Given the description of an element on the screen output the (x, y) to click on. 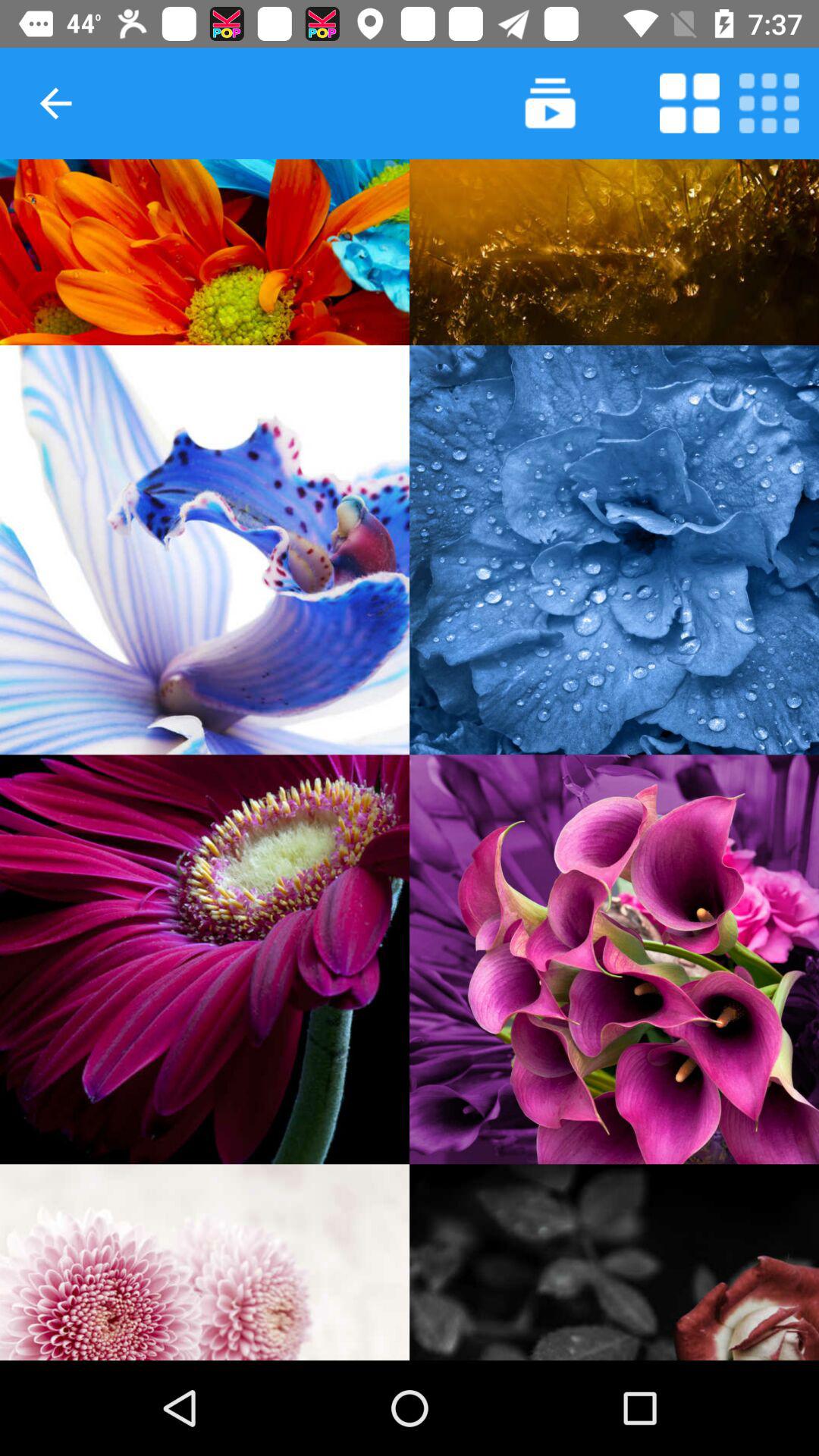
slideshow (550, 103)
